Given the description of an element on the screen output the (x, y) to click on. 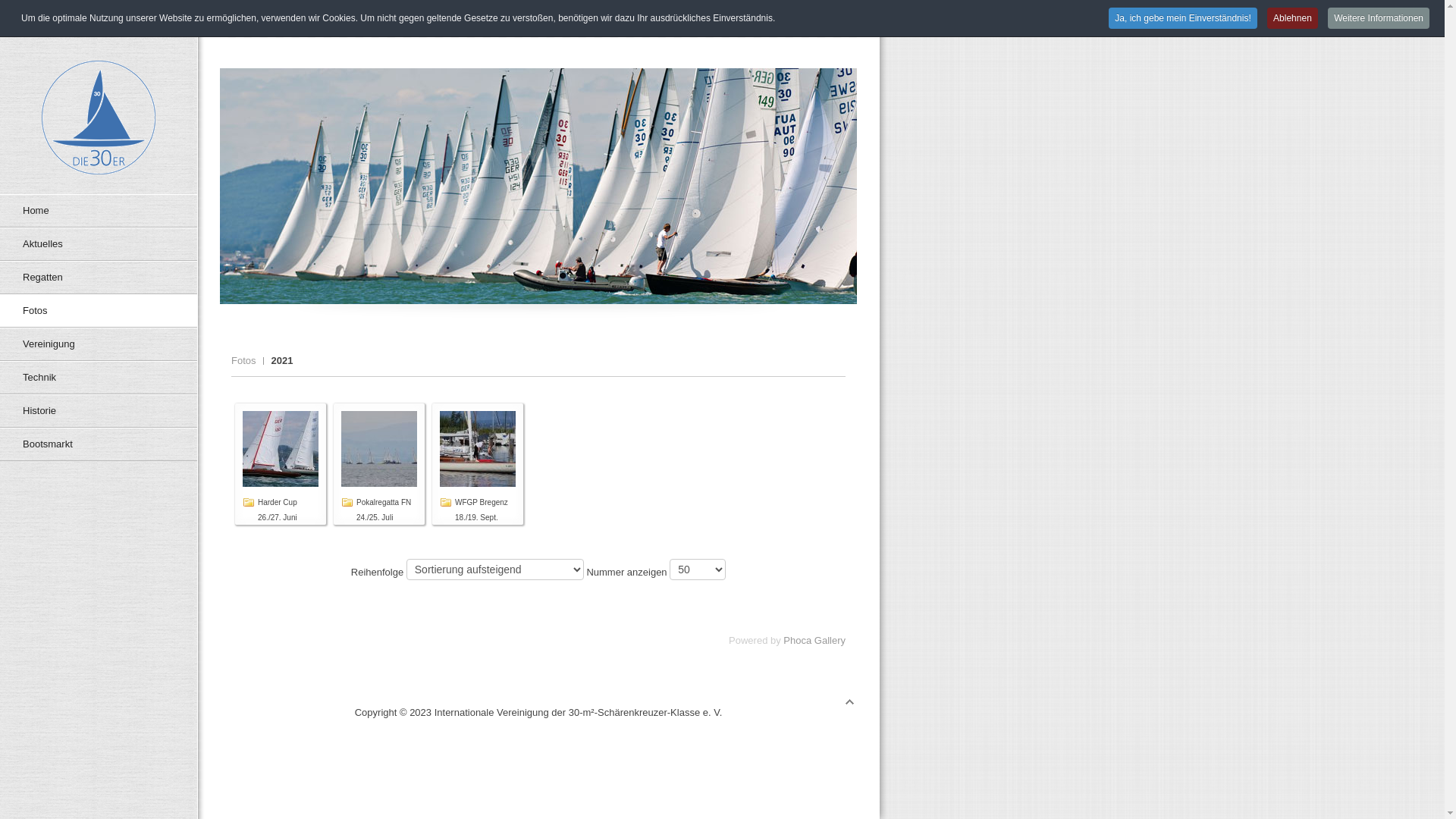
Weitere Informationen Element type: text (1378, 17)
Home Element type: text (98, 210)
Phoca Gallery Element type: text (814, 640)
Impressum Element type: text (832, 14)
Fotos Element type: text (98, 310)
Historie Element type: text (98, 410)
Aktuelles Element type: text (98, 244)
Bootsmarkt Element type: text (98, 444)
Datenschutz Element type: text (768, 14)
Kontakt Element type: text (713, 14)
Technik Element type: text (98, 377)
Reset Element type: text (3, 3)
Vereinigung Element type: text (98, 344)
Ablehnen Element type: text (1292, 17)
Regatten Element type: text (98, 277)
Fotos Element type: text (247, 360)
